Given the description of an element on the screen output the (x, y) to click on. 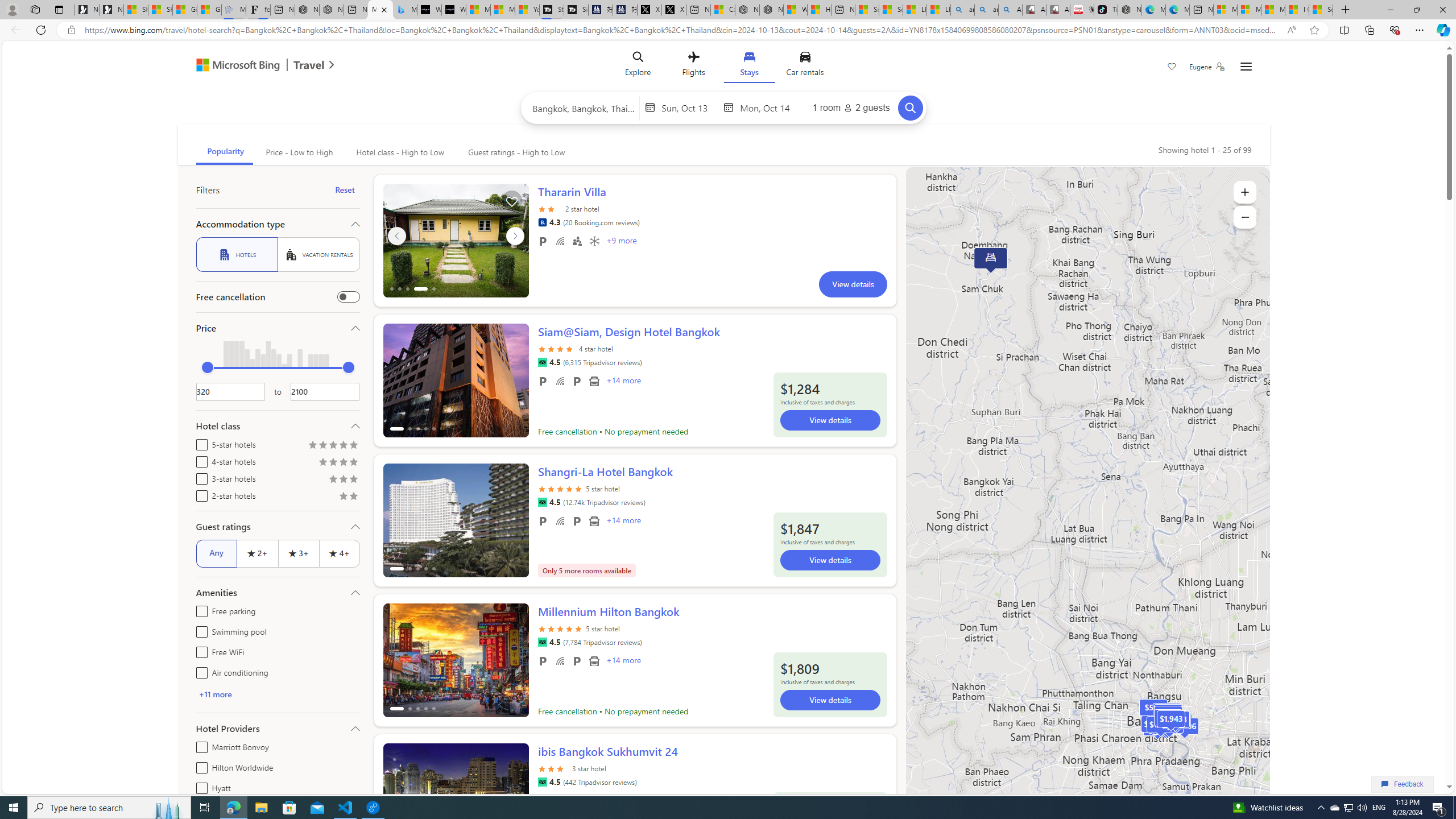
End date (767, 107)
Settings and more (Alt+F) (1419, 29)
Wildlife - MSN (795, 9)
Free cancellation (347, 296)
3-star hotels (199, 476)
Split screen (1344, 29)
Microsoft Bing (232, 65)
Shanghai, China weather forecast | Microsoft Weather (159, 9)
+14 More Amenities (622, 661)
Search hotels or place (584, 107)
Huge shark washes ashore at New York City beach | Watch (818, 9)
Collections (1369, 29)
